Given the description of an element on the screen output the (x, y) to click on. 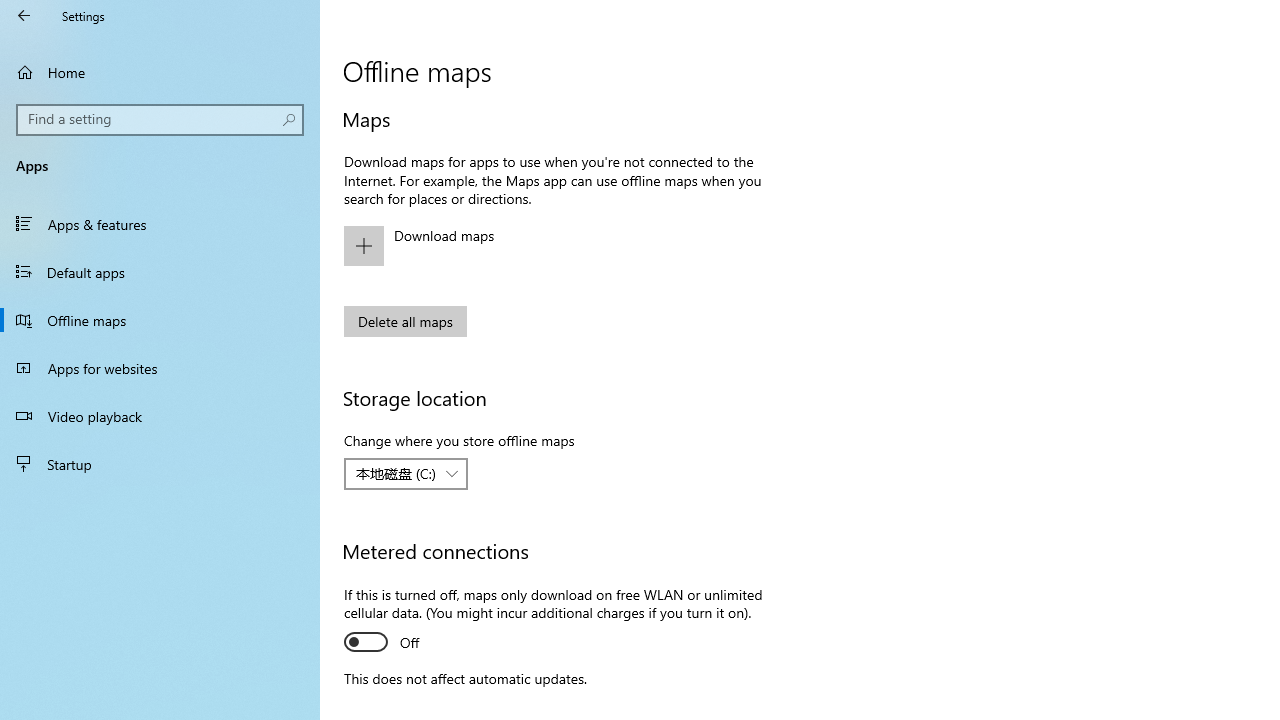
Delete all maps (405, 321)
Startup (160, 463)
Search box, Find a setting (160, 119)
Download maps (563, 245)
Default apps (160, 271)
Apps for websites (160, 367)
Apps & features (160, 223)
Change where you store offline maps (406, 473)
Offline maps (160, 319)
Video playback (160, 415)
